Given the description of an element on the screen output the (x, y) to click on. 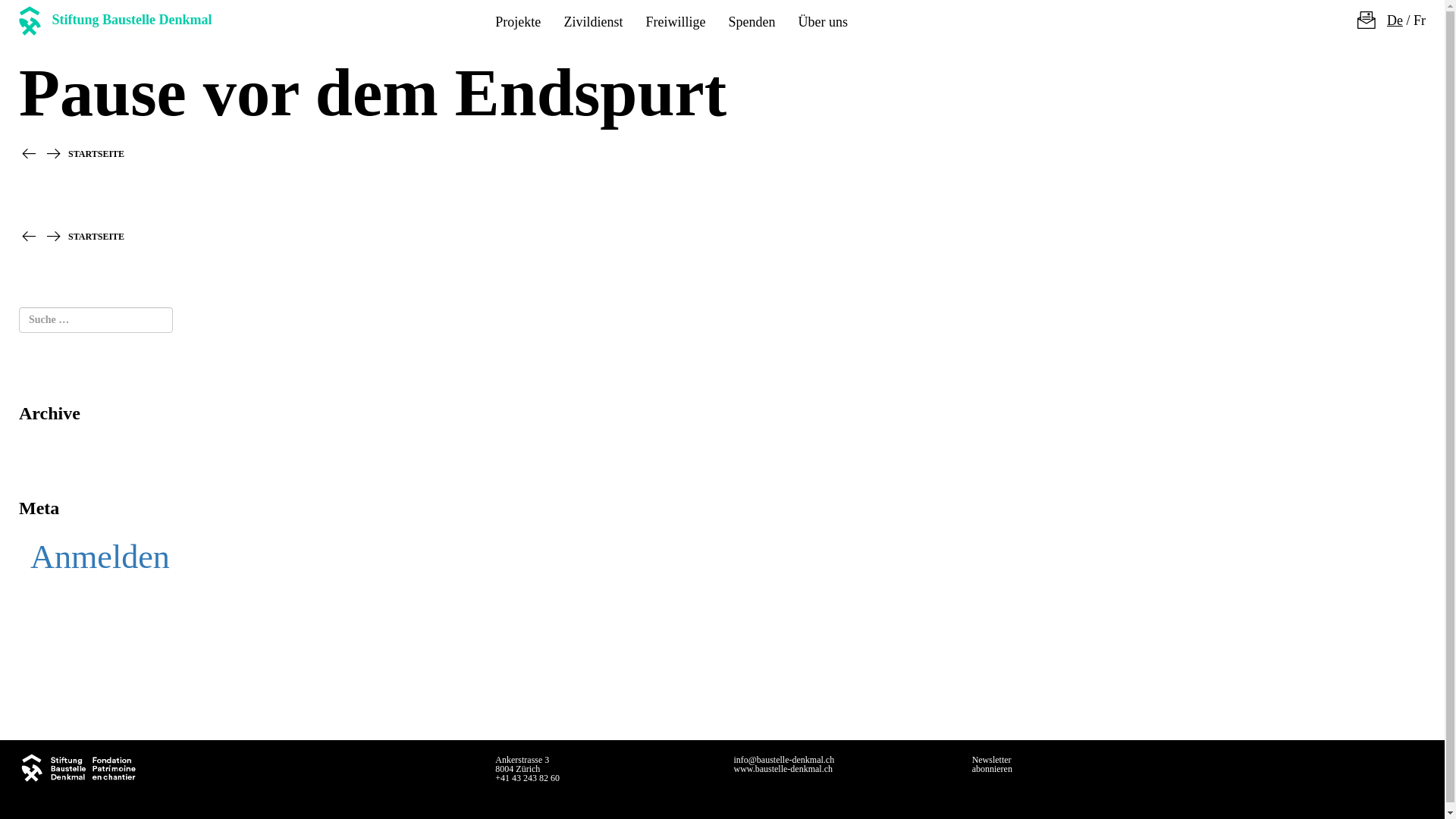
Suche nach: Element type: hover (95, 319)
STARTSEITE Element type: text (96, 236)
Zivildienst Element type: text (592, 21)
h Element type: text (29, 238)
Suche Element type: text (22, 12)
Freiwillige Element type: text (674, 21)
Fr Element type: text (1419, 20)
Anmelden Element type: text (245, 556)
i Element type: text (54, 238)
a Stiftung Baustelle Denkmal Element type: text (120, 21)
STARTSEITE Element type: text (96, 153)
Projekte Element type: text (517, 21)
info@baustelle-denkmal.ch Element type: text (783, 759)
www.baustelle-denkmal.ch Element type: text (782, 768)
i Element type: text (54, 156)
Spenden Element type: text (751, 21)
h Element type: text (29, 156)
+41 43 243 82 60 Element type: text (527, 777)
De Element type: text (1394, 20)
